Given the description of an element on the screen output the (x, y) to click on. 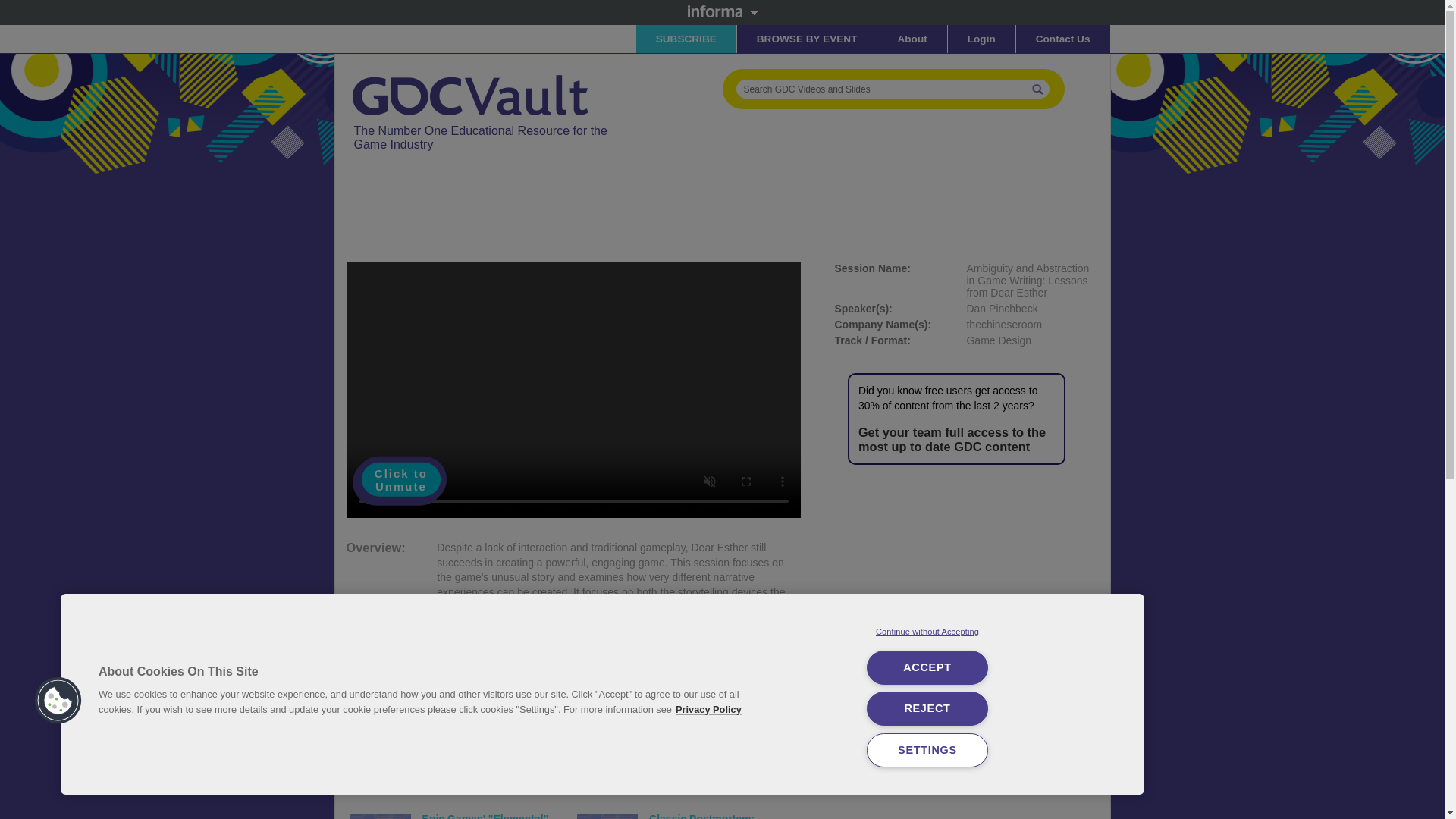
Epic Games' "Elemental" Unreal Engine 4... (485, 816)
Classic Postmortem: GoldenEye 007 (701, 816)
3rd party ad content (622, 213)
Informa (722, 10)
SUBSCRIBE (686, 39)
Cookies Button (57, 700)
BROWSE BY EVENT (806, 39)
Login (980, 39)
3rd party ad content (965, 582)
Go to GDC Vault homepage (472, 74)
Get your team full access to the most up to date GDC content (952, 439)
Contact Us (1062, 39)
About (911, 39)
